Given the description of an element on the screen output the (x, y) to click on. 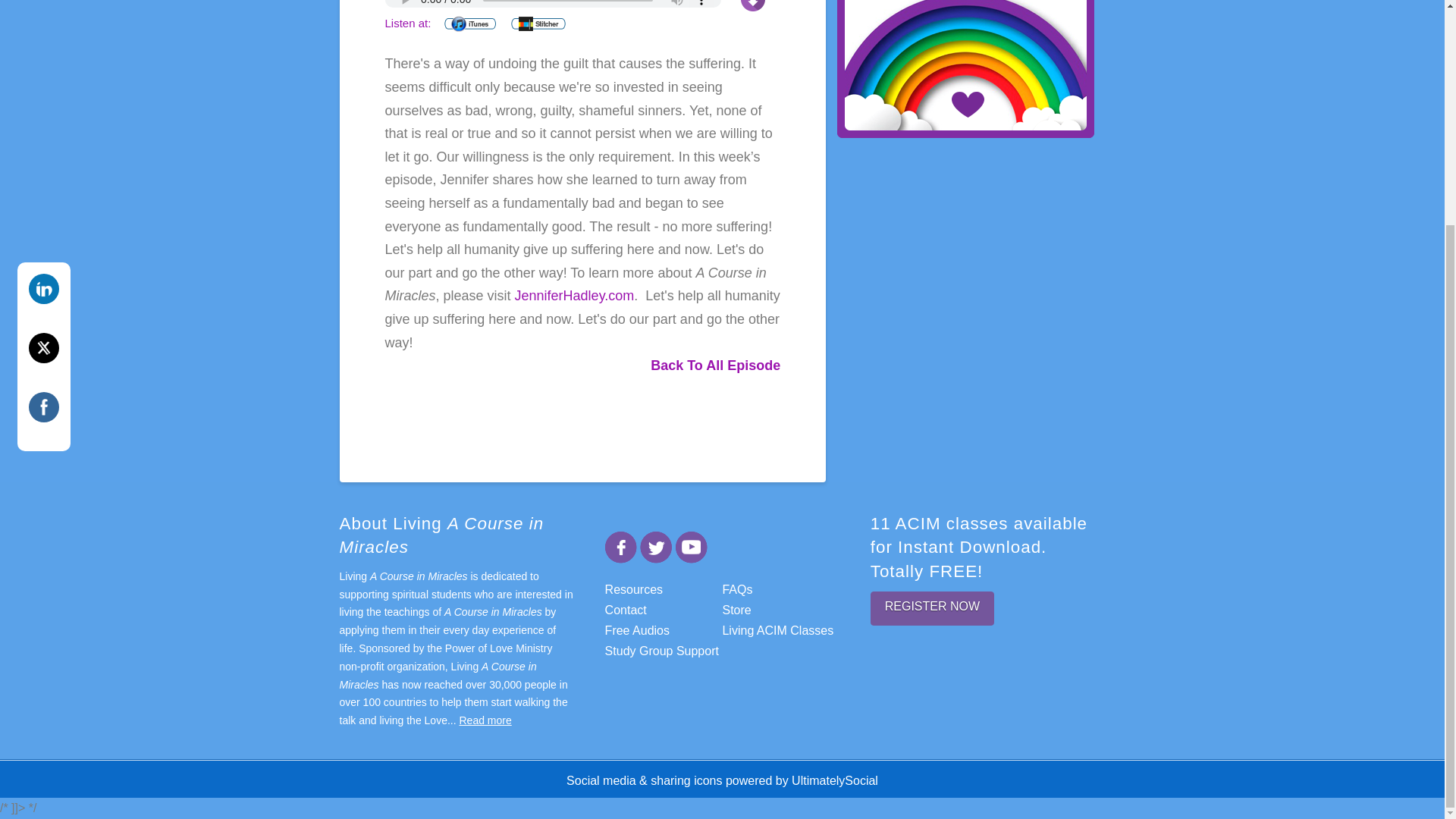
Subscribe on iTunes (469, 23)
Download Audio (753, 2)
Register Now (932, 608)
twitter (655, 545)
Subscribe on Stitcher (537, 23)
Back To All Episode (715, 365)
youtube (691, 545)
Twitter (43, 47)
Read more (486, 720)
Facebook (43, 106)
JenniferHadley.com (574, 295)
Facebook (621, 545)
